Given the description of an element on the screen output the (x, y) to click on. 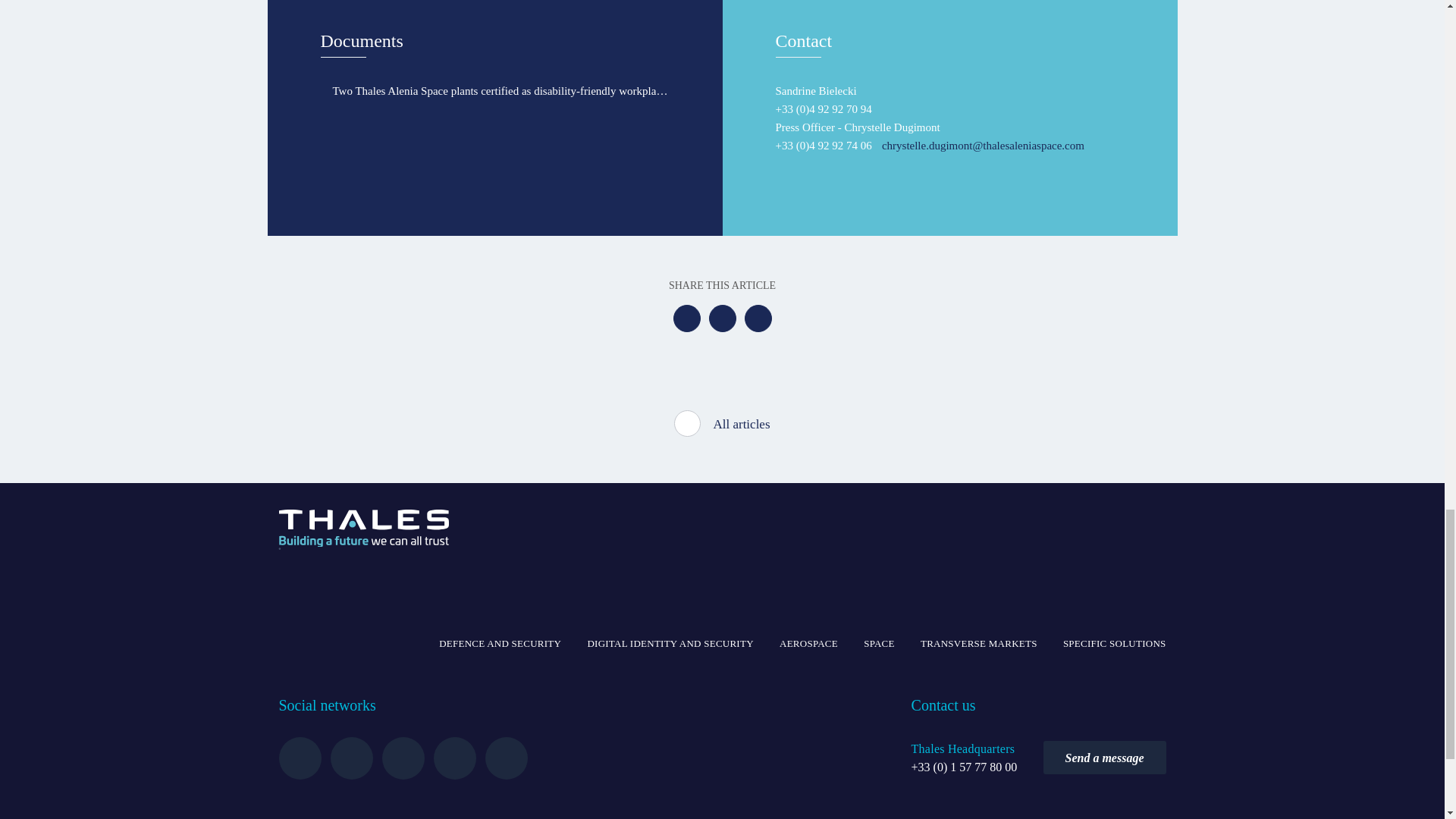
DEFENCE AND SECURITY (499, 643)
LinkedIn (757, 318)
Facebook (403, 758)
AEROSPACE (808, 643)
Linkedin (300, 758)
Twitter (721, 318)
TRANSVERSE MARKETS (978, 643)
Twitter (351, 758)
Facebook (686, 318)
